Given the description of an element on the screen output the (x, y) to click on. 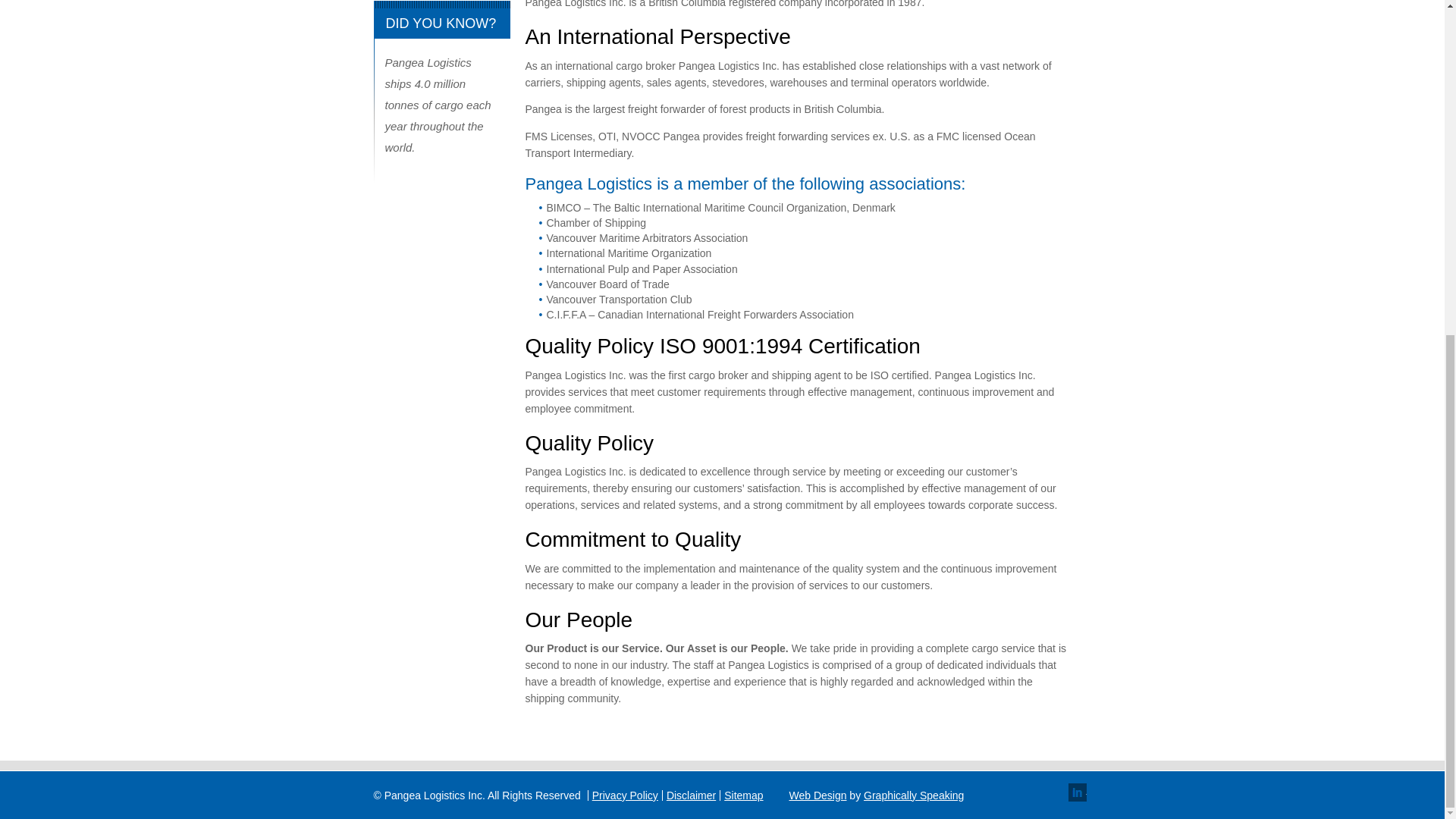
Privacy Policy (625, 795)
Sitemap (742, 795)
Disclaimer (691, 795)
LinkedIn (1076, 791)
Web Design by Graphically Speaking (876, 795)
